Given the description of an element on the screen output the (x, y) to click on. 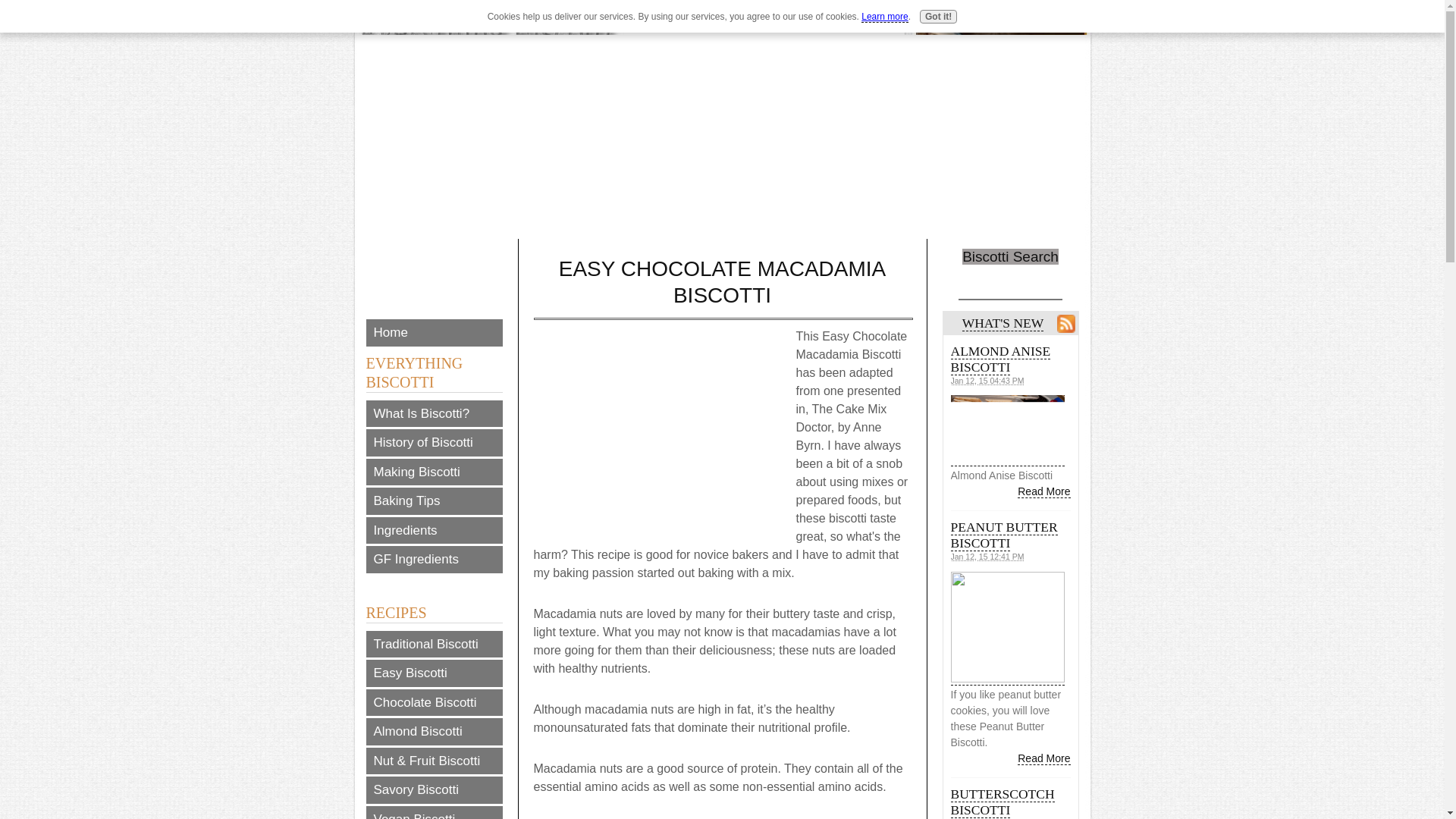
Making Biscotti (433, 471)
Traditional Biscotti (433, 644)
2015-01-12T16:43:31-0500 (987, 379)
2015-01-12T12:41:17-0500 (987, 556)
History of Biscotti (433, 442)
Easy Biscotti (433, 673)
Vegan Biscotti (433, 812)
Home (433, 332)
Chocolate Biscotti (433, 701)
Almond Biscotti (433, 731)
